Given the description of an element on the screen output the (x, y) to click on. 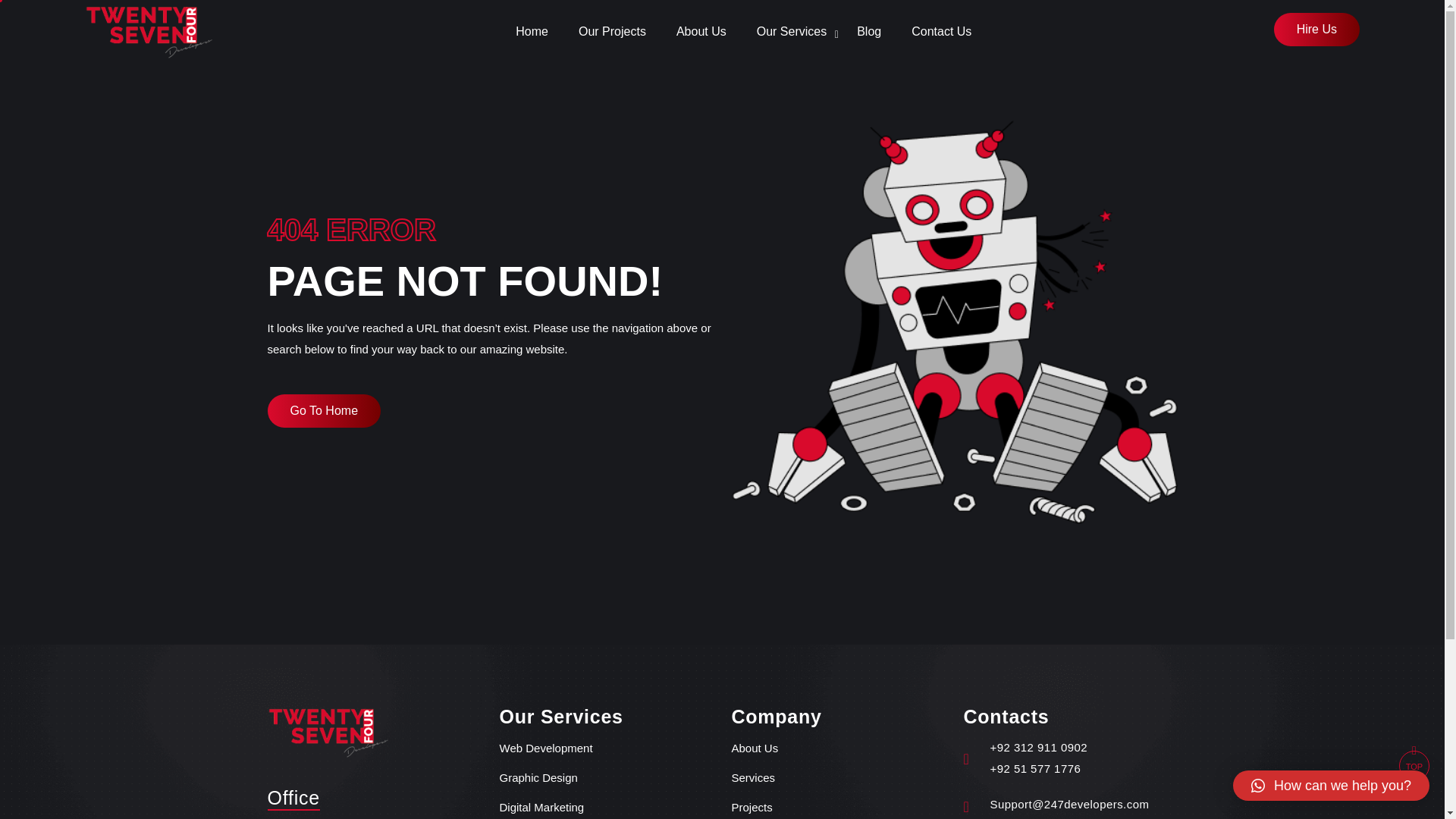
About Us (701, 31)
Home (531, 31)
Hire Us (1316, 28)
Projects (750, 807)
Digital Marketing (541, 807)
TOP (1414, 766)
Graphic Design (537, 778)
Blog (868, 31)
Web Development (545, 748)
Contact Us (941, 31)
About Us (753, 748)
Services (752, 778)
Our Services (792, 31)
247 Developers (149, 30)
Our Projects (612, 31)
